Given the description of an element on the screen output the (x, y) to click on. 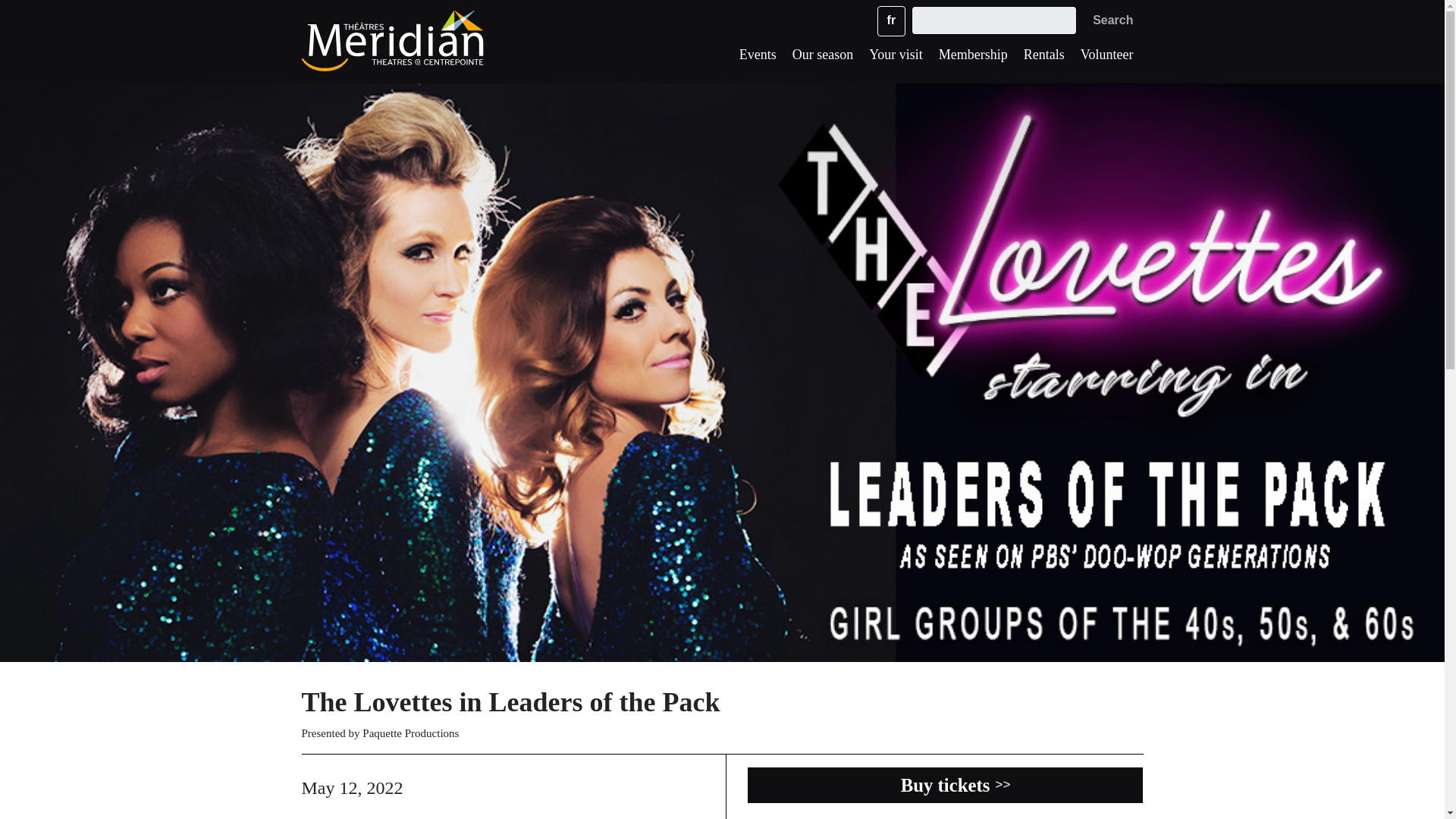
Events (758, 58)
Our season (822, 58)
Home (394, 40)
Your visit (895, 58)
Membership (973, 58)
Rentals (1043, 58)
fr (891, 20)
Search (1112, 20)
Search (1112, 20)
Opens in a new window (944, 784)
Volunteer (1107, 58)
